Given the description of an element on the screen output the (x, y) to click on. 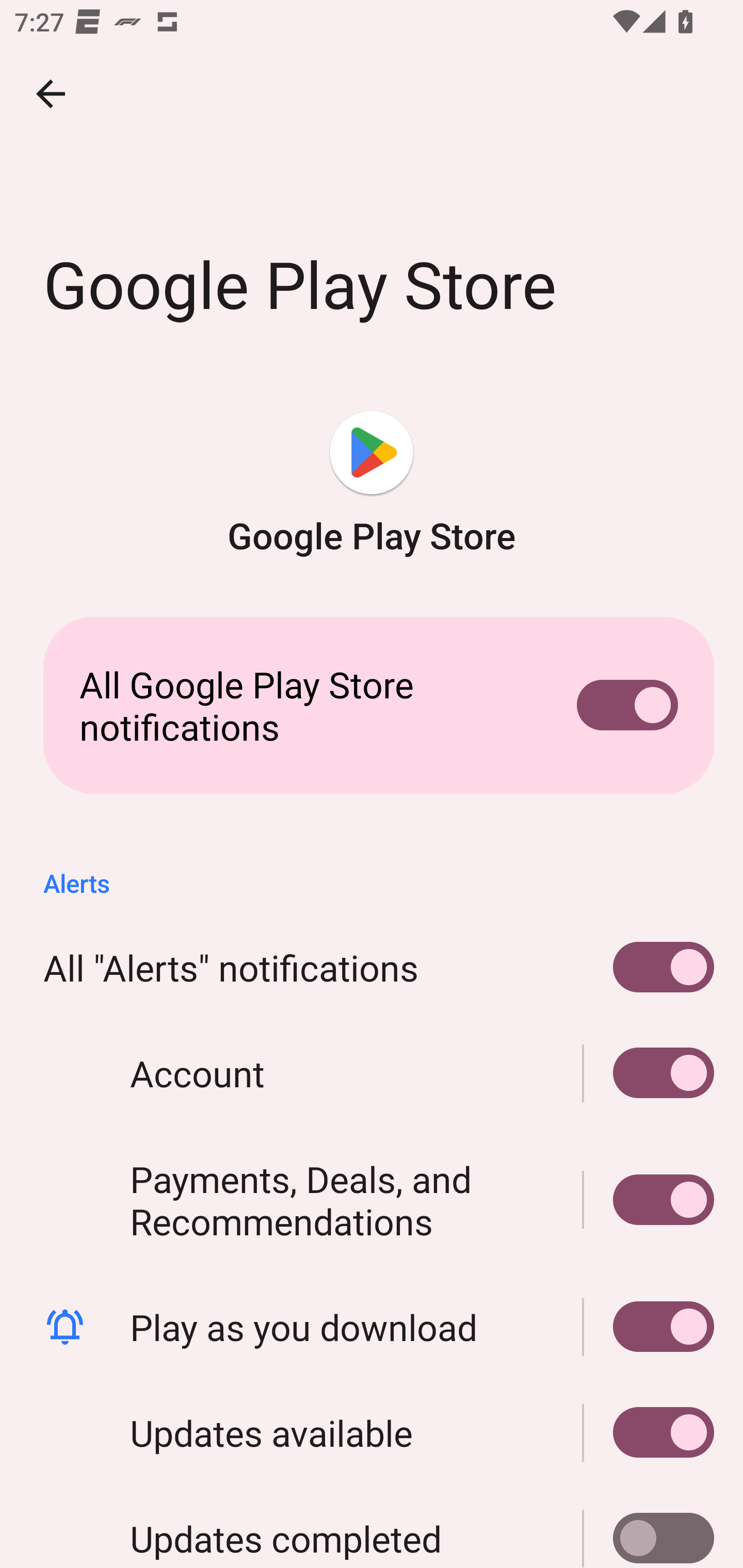
Navigate up (50, 93)
Google Play Store (371, 484)
All Google Play Store notifications (371, 705)
All "Alerts" notifications (371, 967)
Account (371, 1072)
Account (648, 1072)
Payments, Deals, and Recommendations (371, 1199)
Payments, Deals, and Recommendations (648, 1199)
Play as you download (371, 1326)
Play as you download (648, 1326)
Updates available (371, 1431)
Updates available (648, 1431)
Updates completed (371, 1526)
Updates completed (648, 1526)
